Given the description of an element on the screen output the (x, y) to click on. 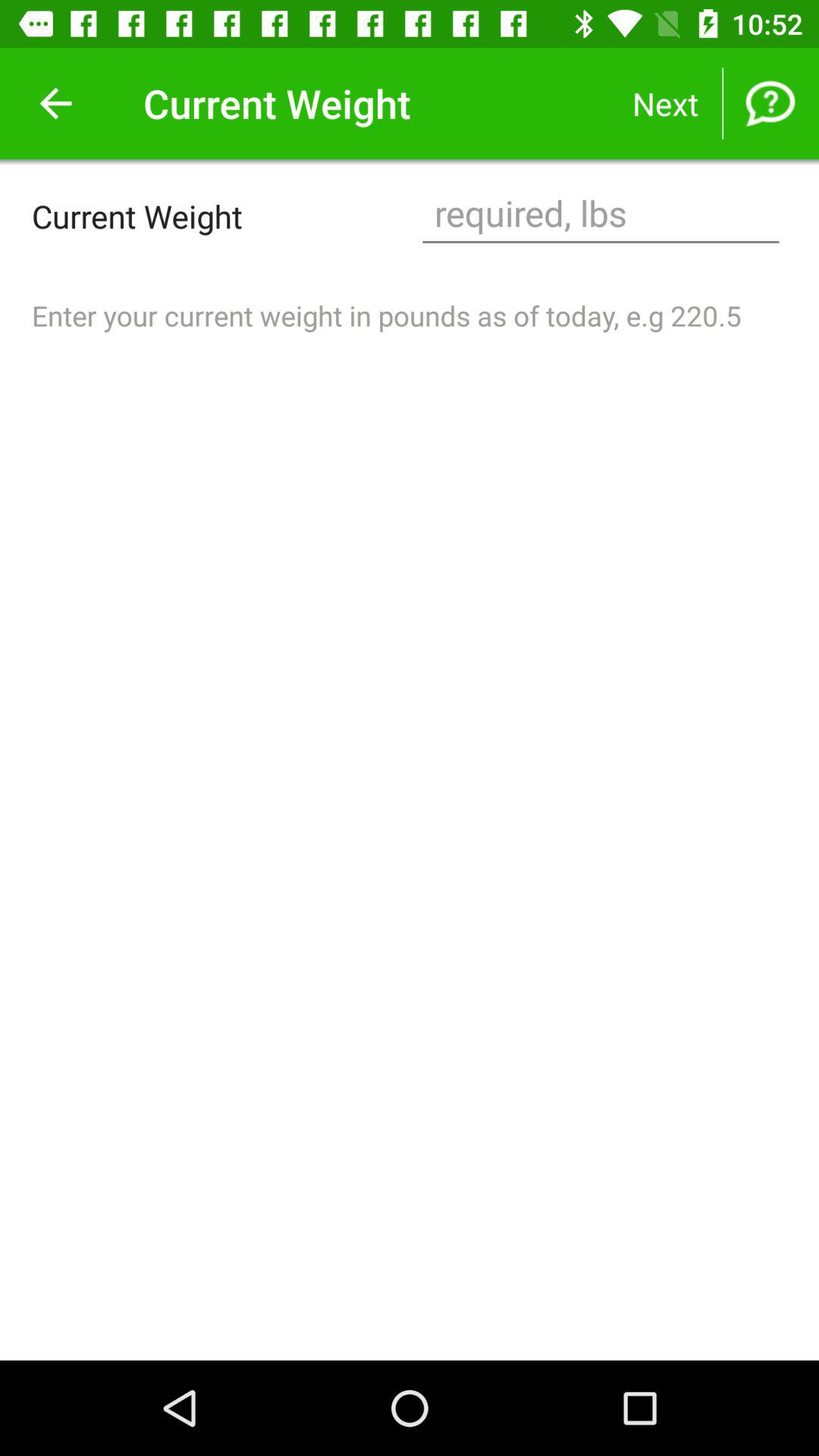
launch icon to the right of current weight item (600, 215)
